Given the description of an element on the screen output the (x, y) to click on. 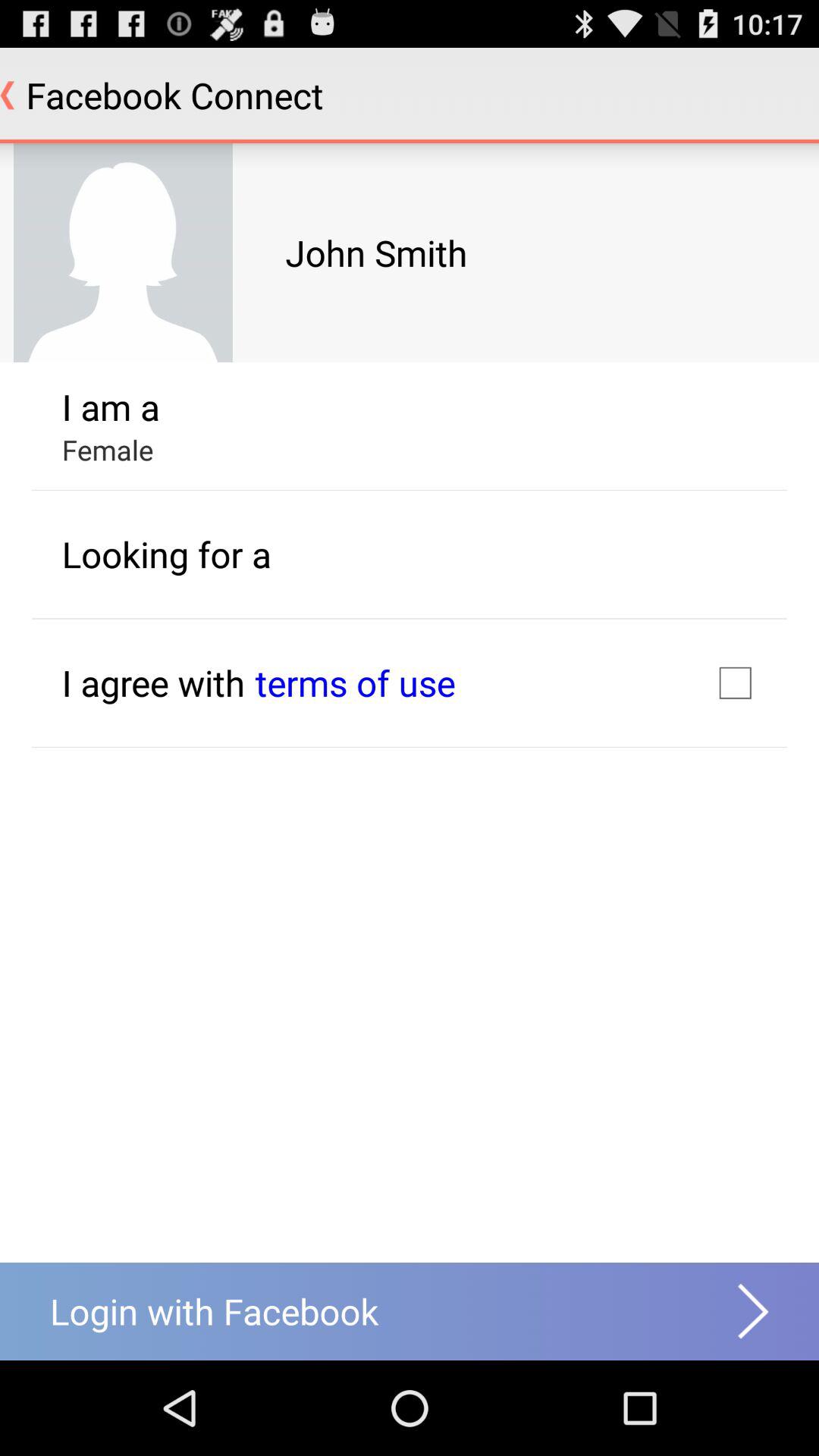
choose the item to the left of terms of use icon (153, 682)
